Given the description of an element on the screen output the (x, y) to click on. 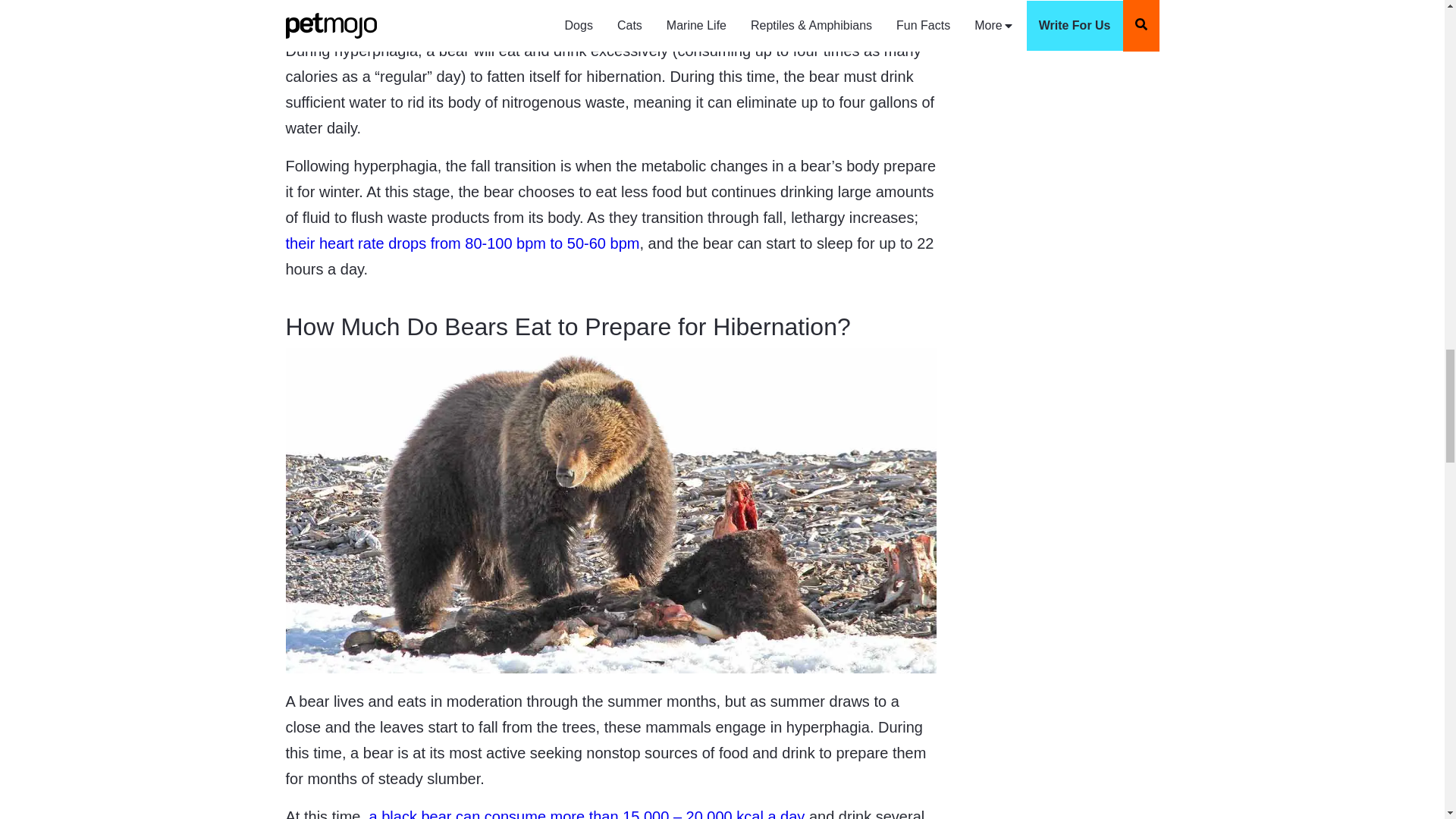
their heart rate drops from 80-100 bpm to 50-60 bpm (462, 243)
